Given the description of an element on the screen output the (x, y) to click on. 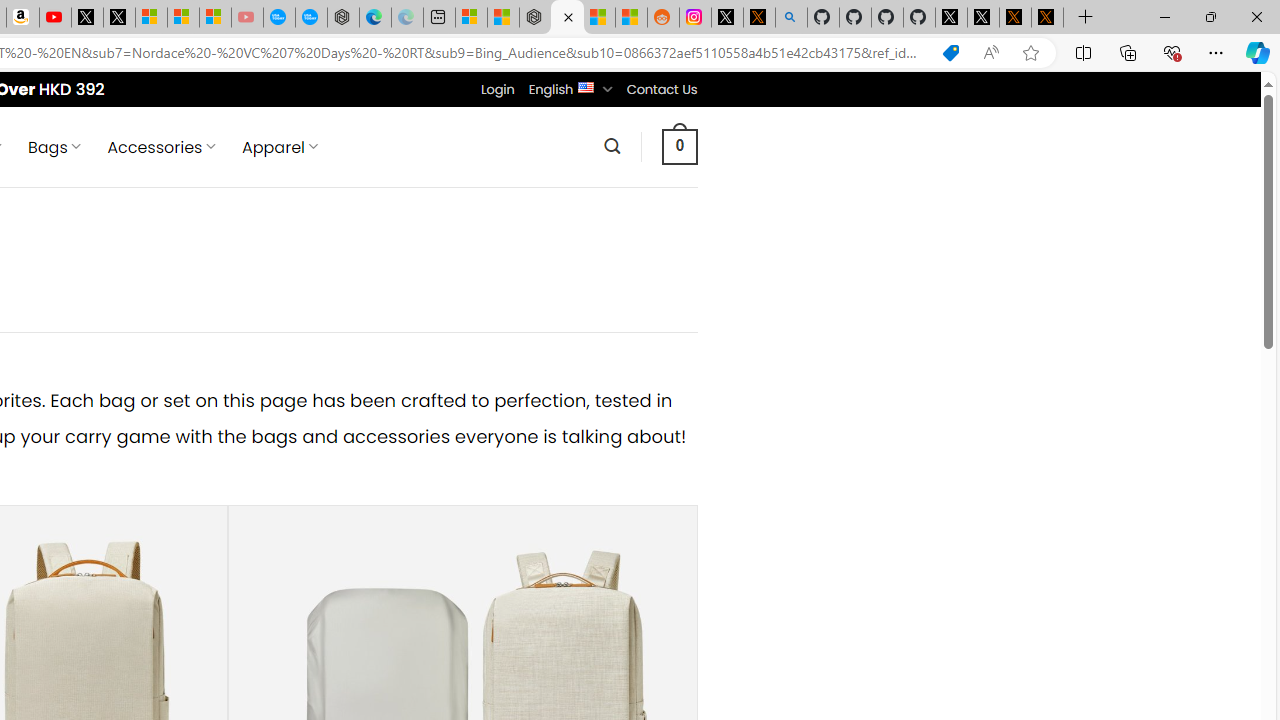
help.x.com | 524: A timeout occurred (758, 17)
Nordace - Nordace has arrived Hong Kong (343, 17)
Day 1: Arriving in Yemen (surreal to be here) - YouTube (54, 17)
Login (497, 89)
github - Search (791, 17)
